Given the description of an element on the screen output the (x, y) to click on. 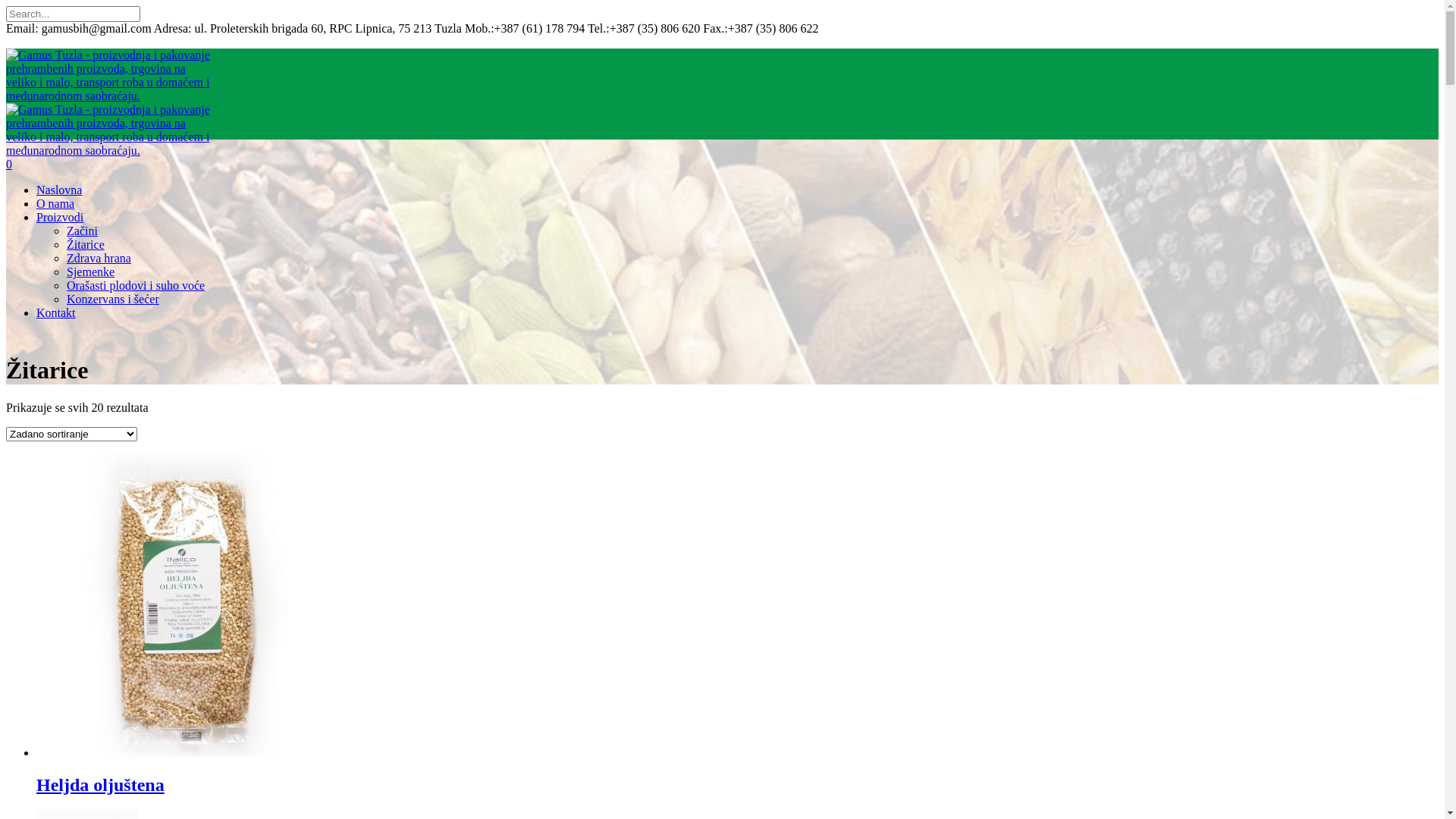
Sjemenke Element type: text (90, 271)
Kontakt Element type: text (55, 312)
Naslovna Element type: text (58, 189)
Zdrava hrana Element type: text (98, 257)
Proizvodi Element type: text (59, 216)
O nama Element type: text (55, 203)
0 Element type: text (9, 163)
